Given the description of an element on the screen output the (x, y) to click on. 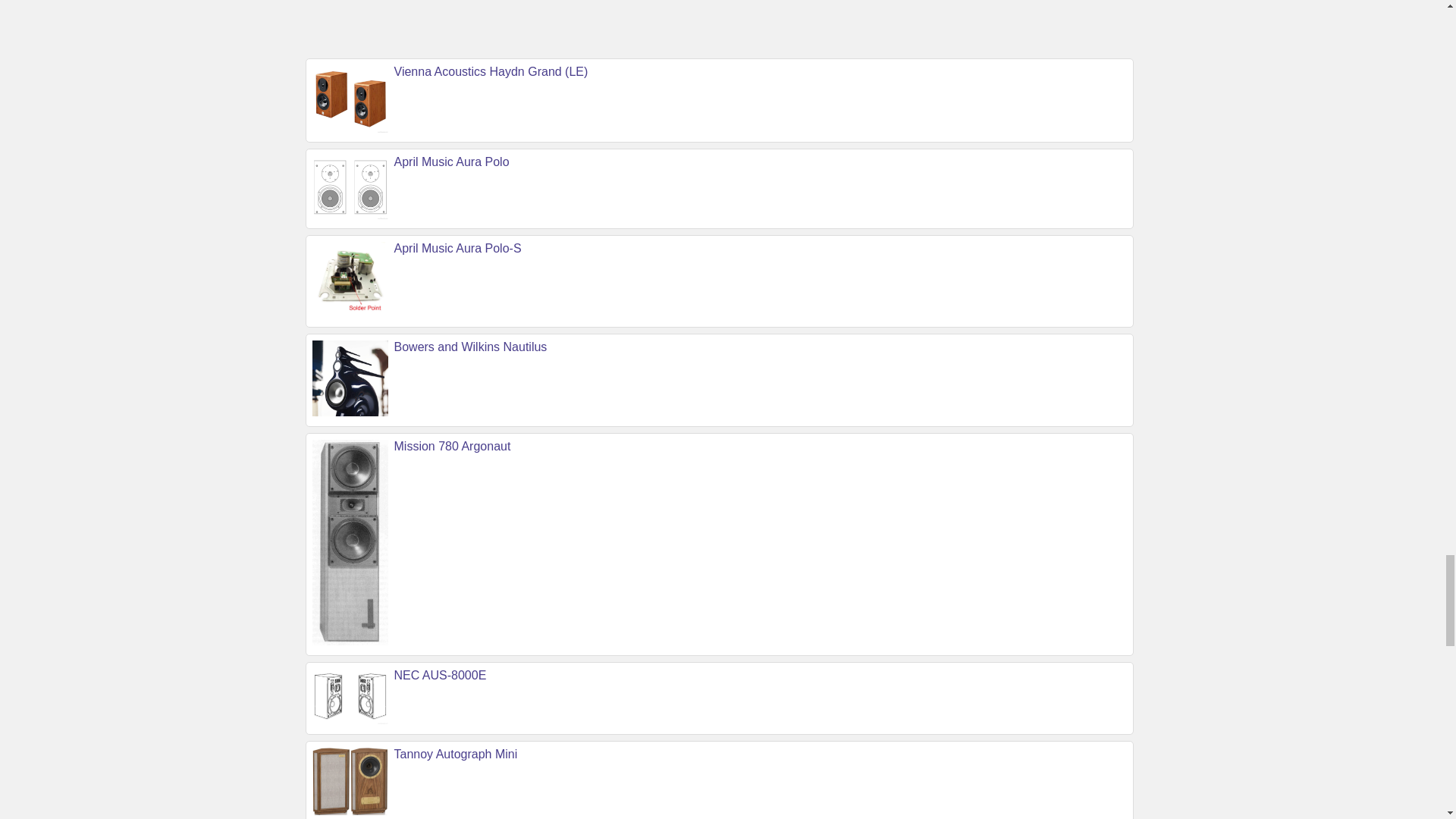
April Music Aura Polo (451, 161)
Bowers and Wilkins Nautilus (470, 346)
Mission 780 Argonaut (452, 445)
NEC AUS-8000E (440, 675)
Tannoy Autograph Mini (456, 753)
April Music Aura Polo-S (457, 247)
